Given the description of an element on the screen output the (x, y) to click on. 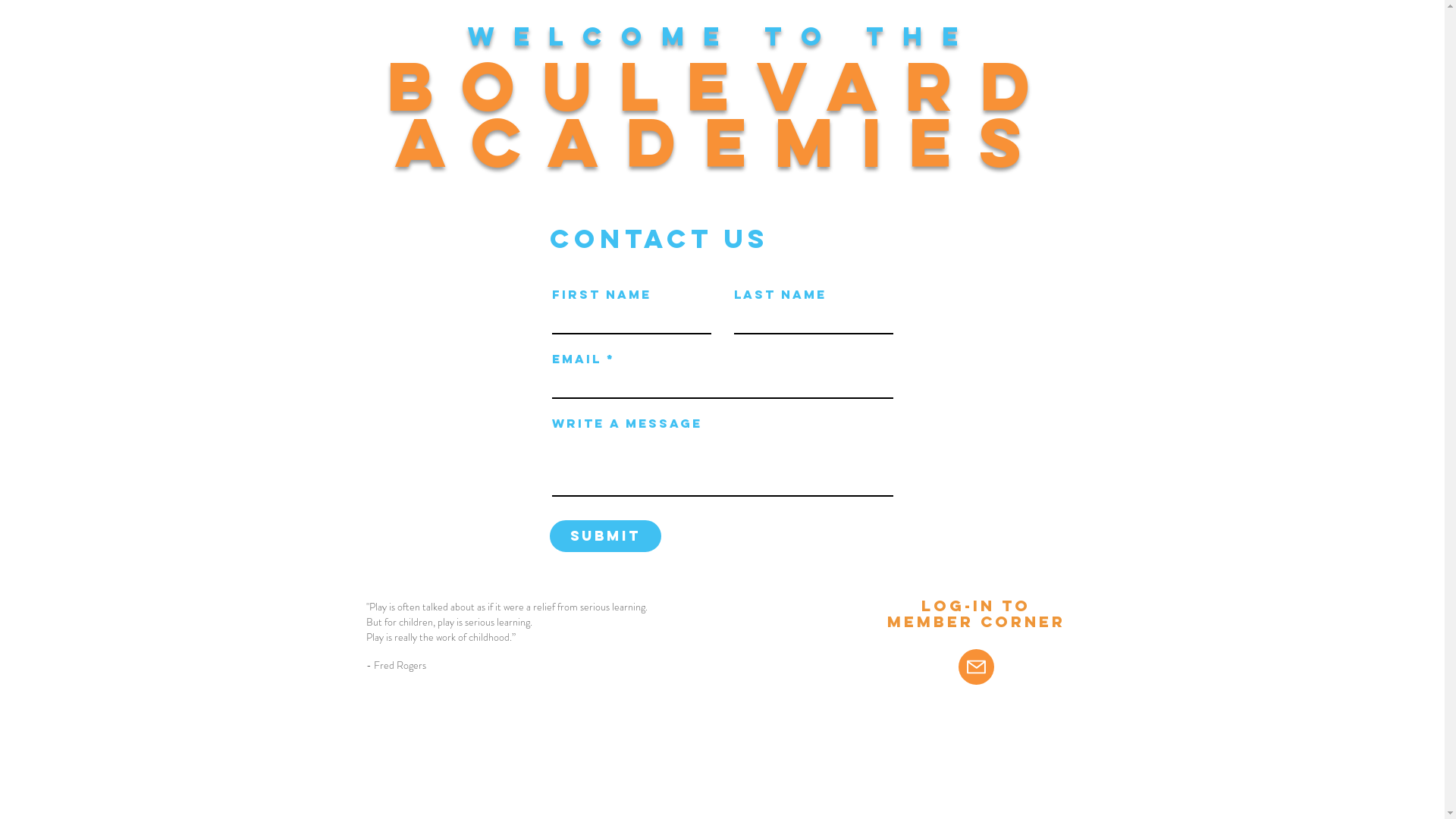
Log-in to Element type: text (975, 605)
Member Corner Element type: text (976, 620)
Submit Element type: text (604, 536)
